Given the description of an element on the screen output the (x, y) to click on. 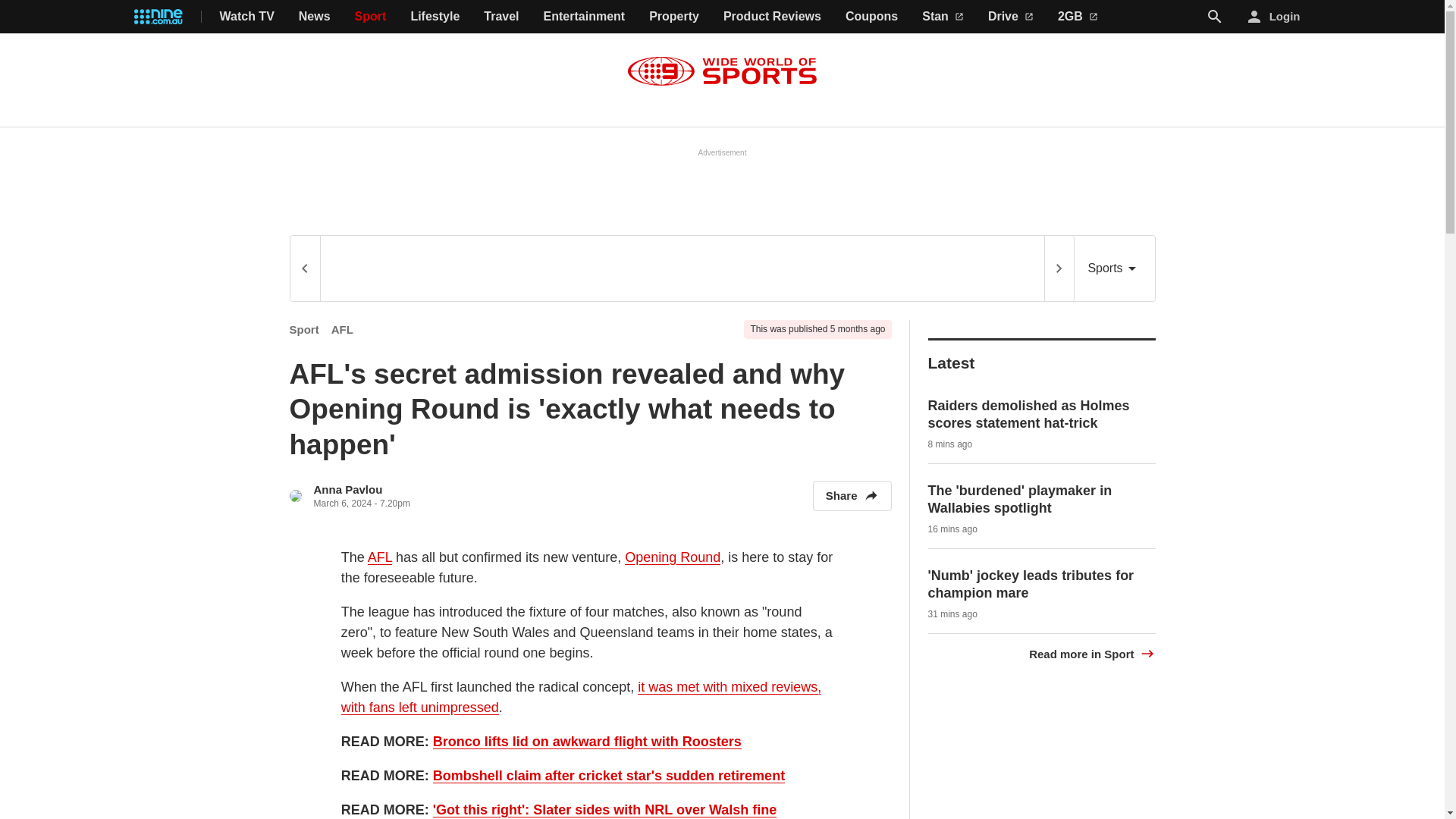
Watch TV (247, 16)
2GB (1077, 16)
Opening Round (672, 557)
Travel (500, 16)
Sports (1114, 268)
Entertainment (584, 16)
Search (1214, 16)
Property (673, 16)
Sport (303, 328)
Login (1273, 16)
